Given the description of an element on the screen output the (x, y) to click on. 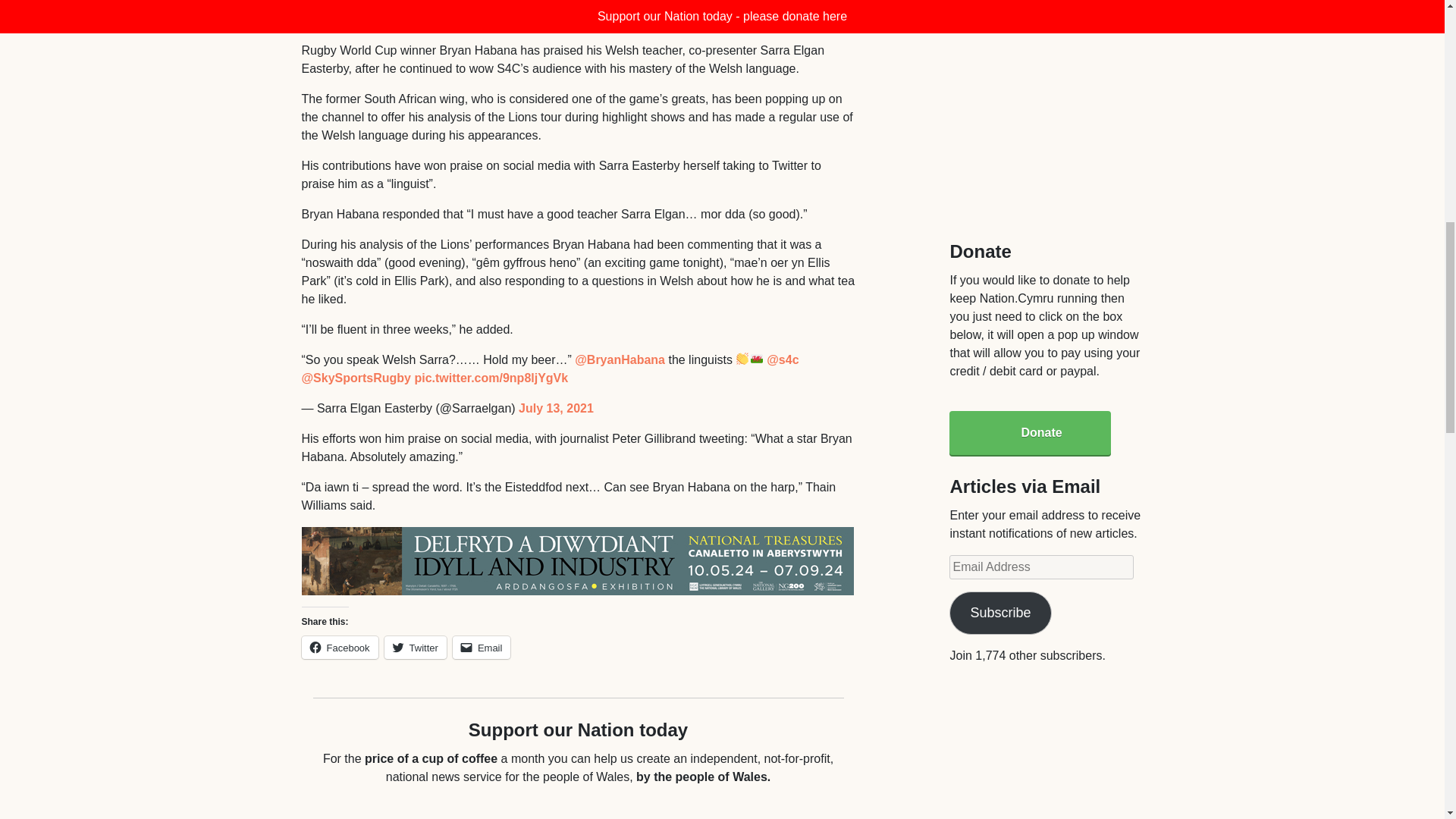
Click to email a link to a friend (481, 647)
Email (481, 647)
Click to share on Twitter (415, 647)
July 13, 2021 (556, 408)
Click to share on Facebook (339, 647)
Twitter (415, 647)
Facebook (339, 647)
